Given the description of an element on the screen output the (x, y) to click on. 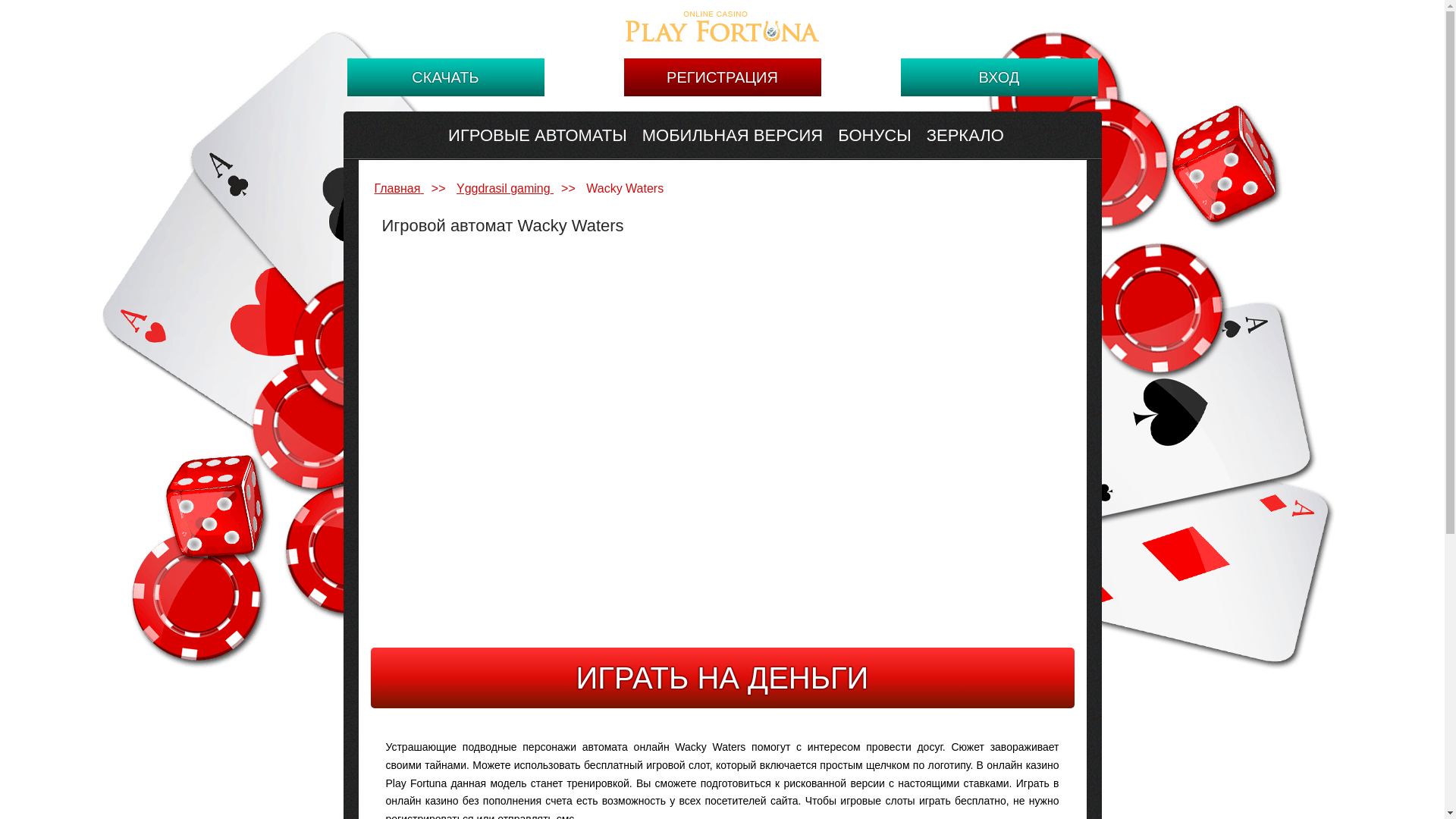
Yggdrasil gaming Element type: text (504, 188)
